Given the description of an element on the screen output the (x, y) to click on. 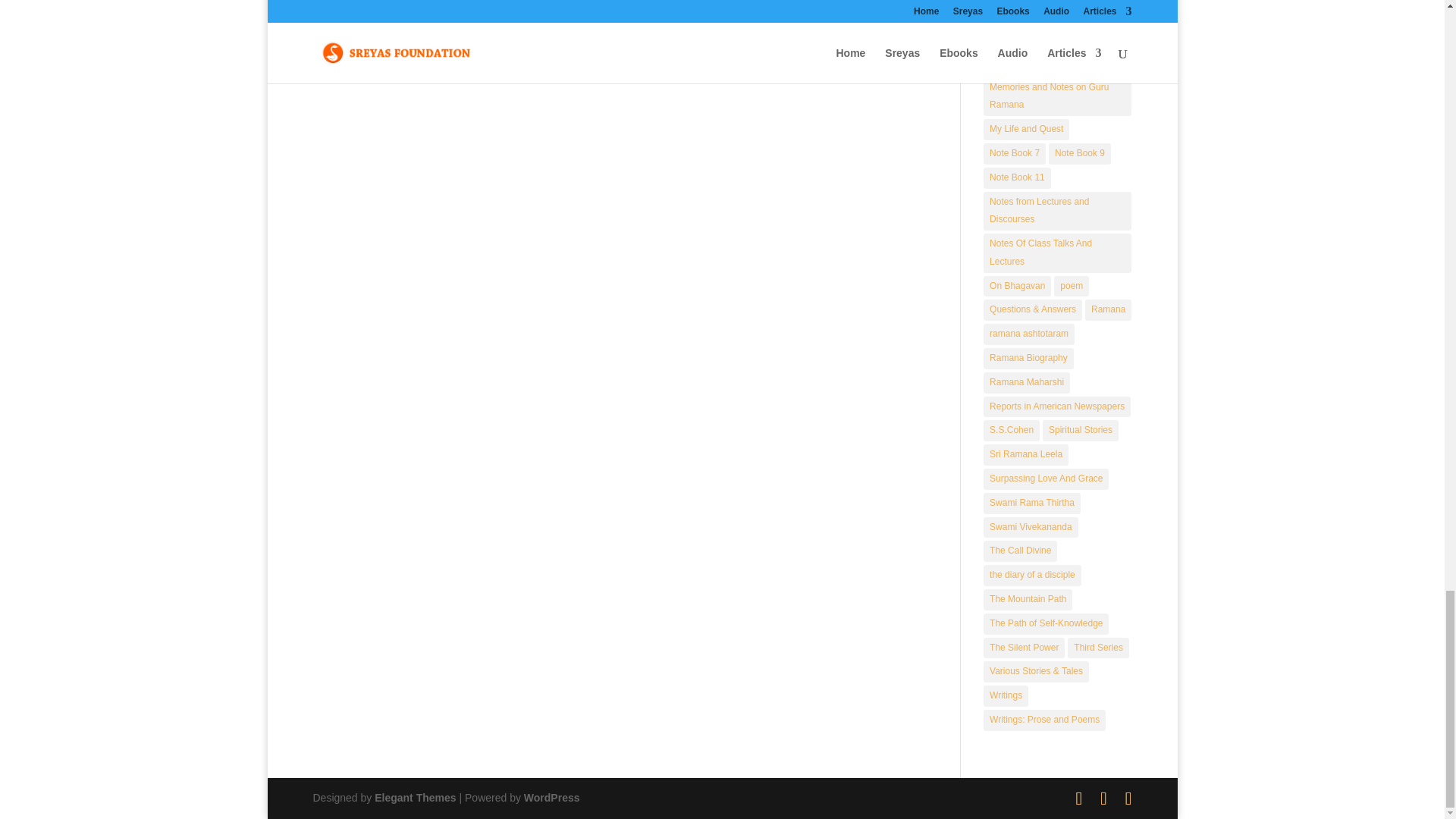
Premium WordPress Themes (414, 797)
